Given the description of an element on the screen output the (x, y) to click on. 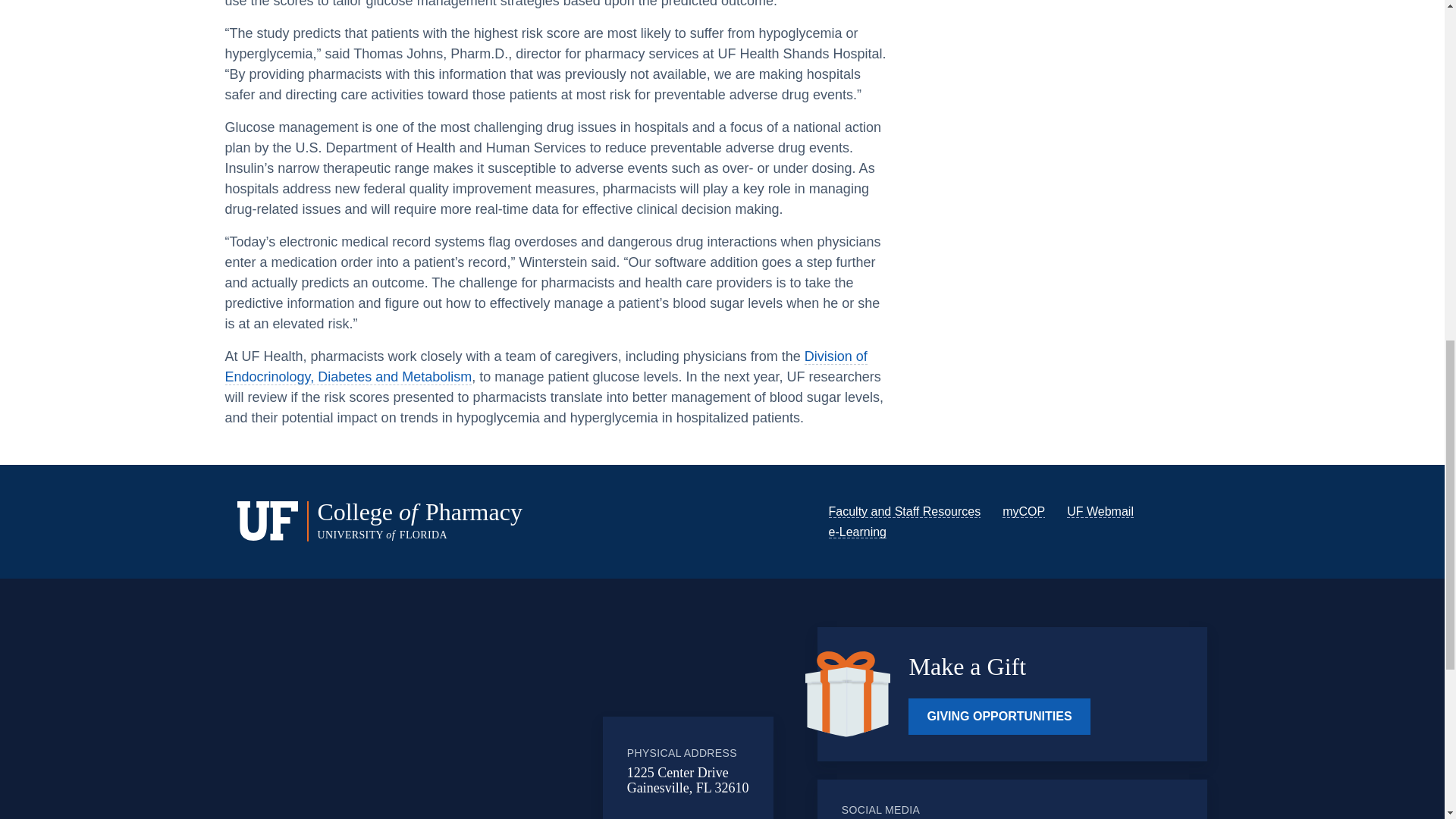
myCOP (1024, 511)
UF Webmail (1100, 511)
Google Maps Embed (478, 725)
Faculty and Staff Resources (903, 511)
e-Learning (857, 531)
